Given the description of an element on the screen output the (x, y) to click on. 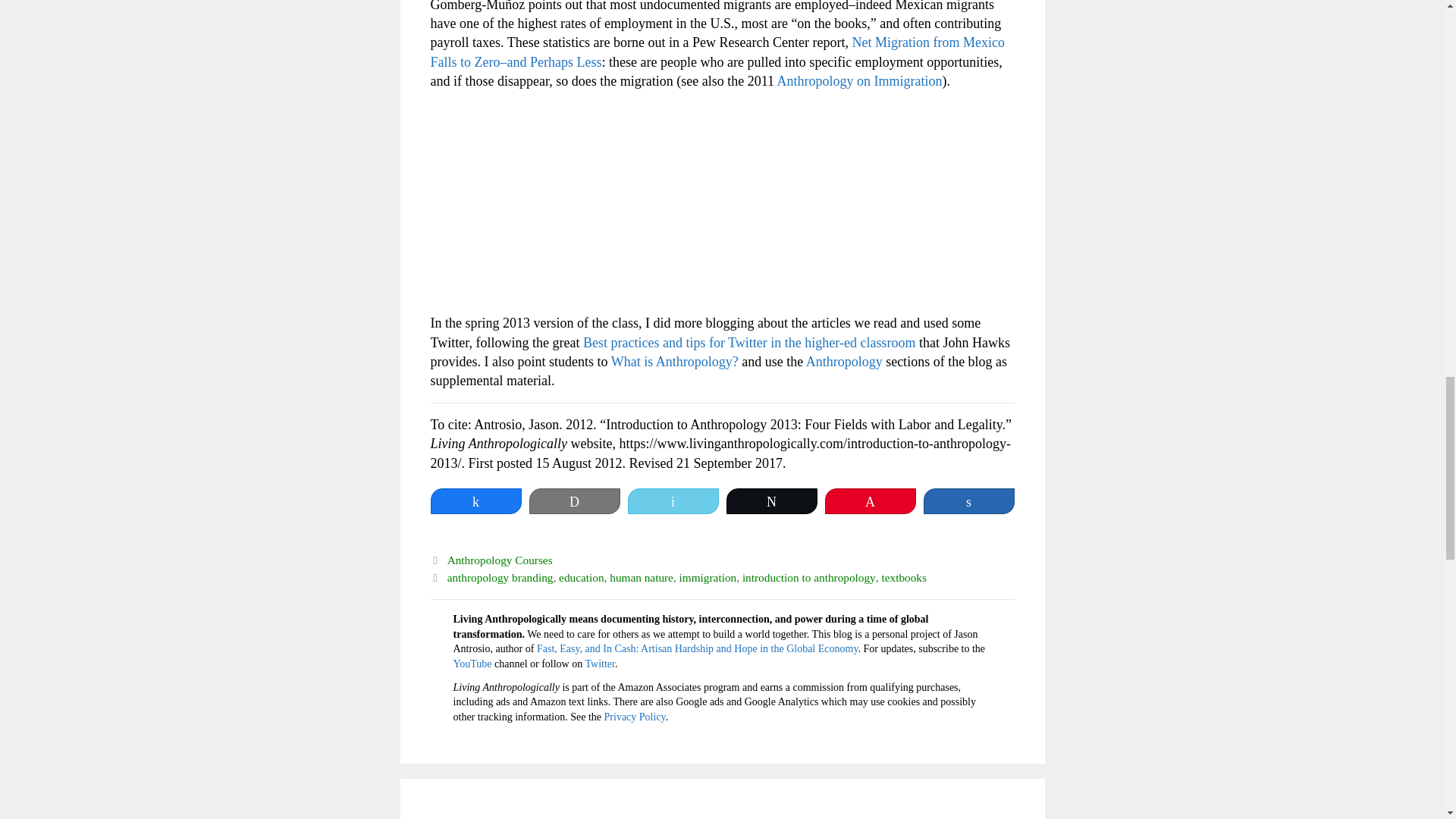
Anthropology on Immigration (859, 80)
Net Migration from Mexico Falls to Zero--and Perhaps Less (717, 51)
anthropology branding (499, 576)
What is Anthropology? (674, 361)
Advertisement (722, 207)
Anthropology (844, 361)
Anthropology on Immigration: The AAA General Statement (859, 80)
human nature (641, 576)
Anthropology Courses (499, 559)
education (581, 576)
immigration (707, 576)
